Given the description of an element on the screen output the (x, y) to click on. 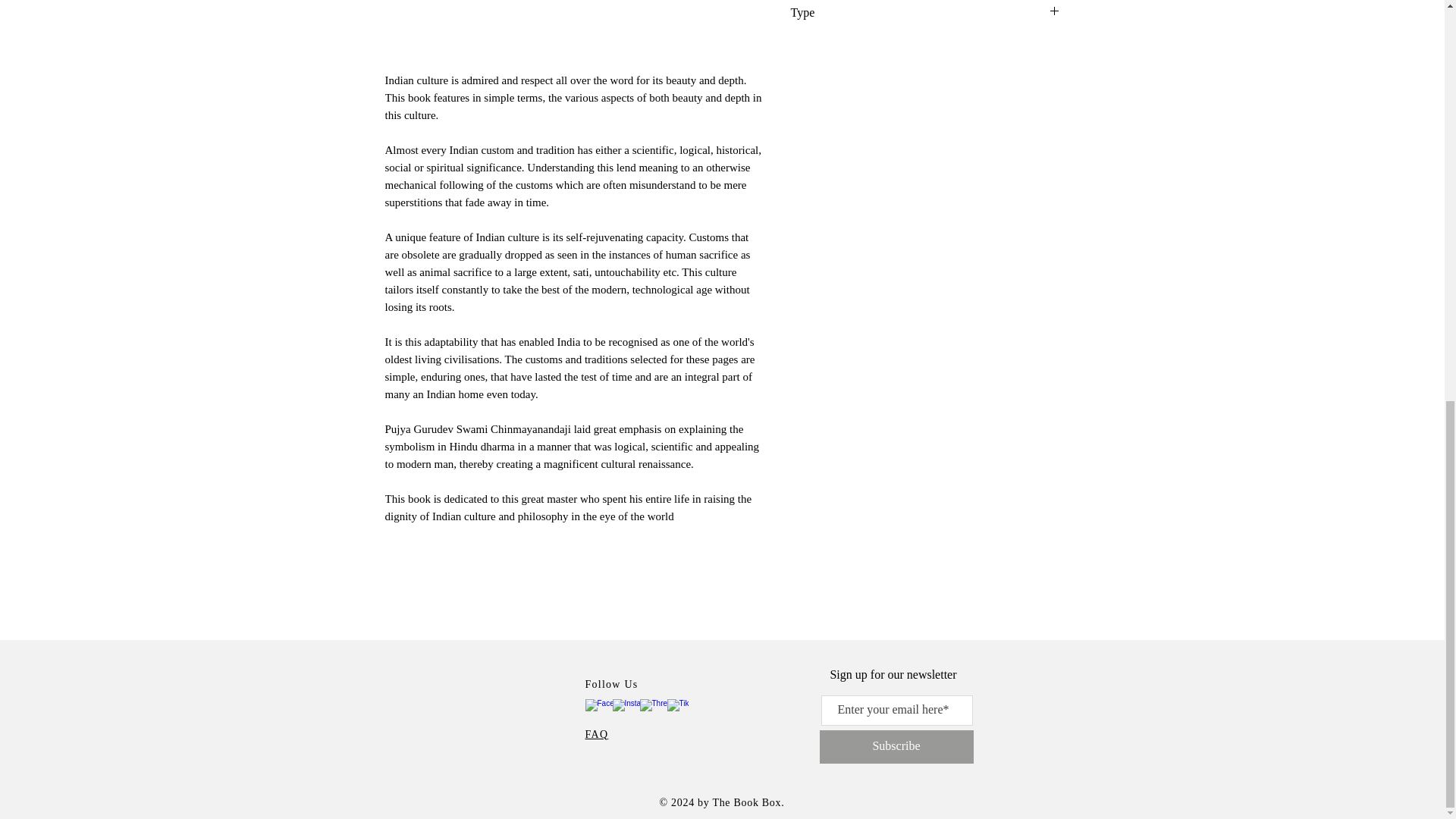
Type (924, 12)
FAQ (596, 734)
Subscribe (895, 746)
